Given the description of an element on the screen output the (x, y) to click on. 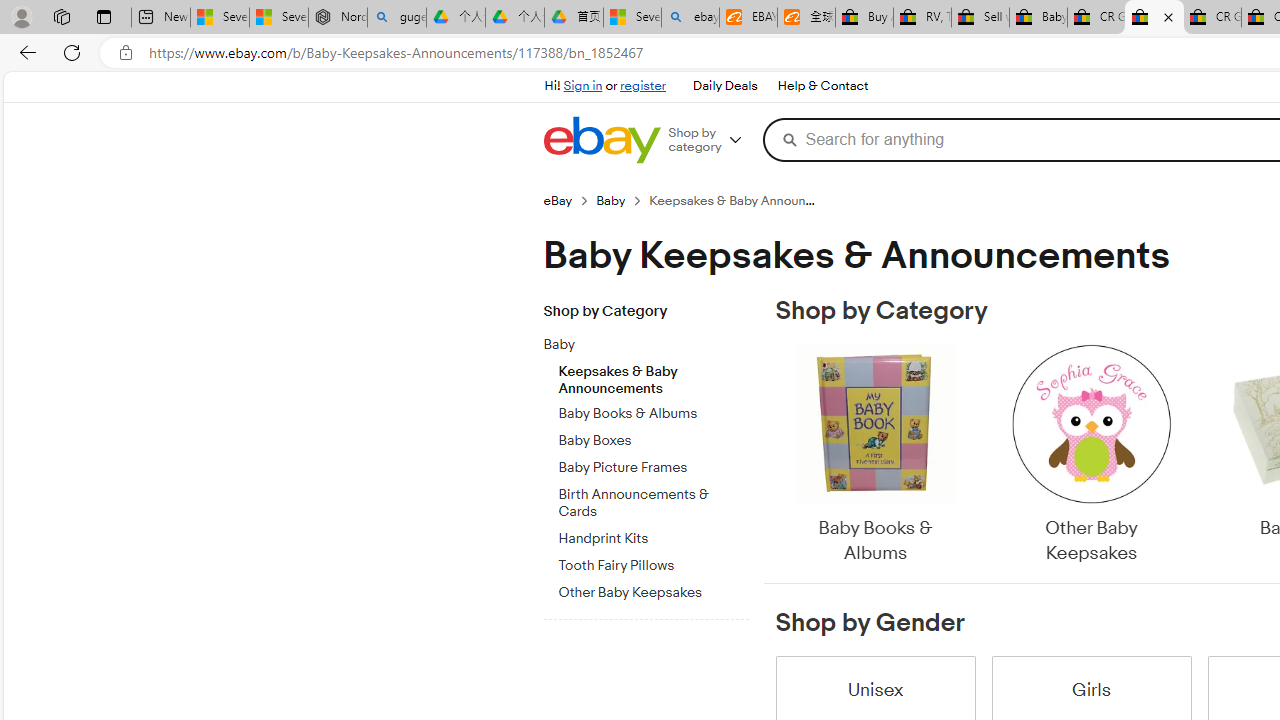
Refresh (72, 52)
Other Baby Keepsakes (1090, 455)
Help & Contact (822, 86)
ebay - Search (690, 17)
Birth Announcements & Cards (653, 504)
Close tab (1168, 16)
Handprint Kits (653, 535)
register (642, 85)
Back (24, 52)
Sign in (582, 85)
Baby Boxes (653, 441)
Baby Picture Frames (653, 464)
eBay Home (601, 139)
New tab (160, 17)
